Given the description of an element on the screen output the (x, y) to click on. 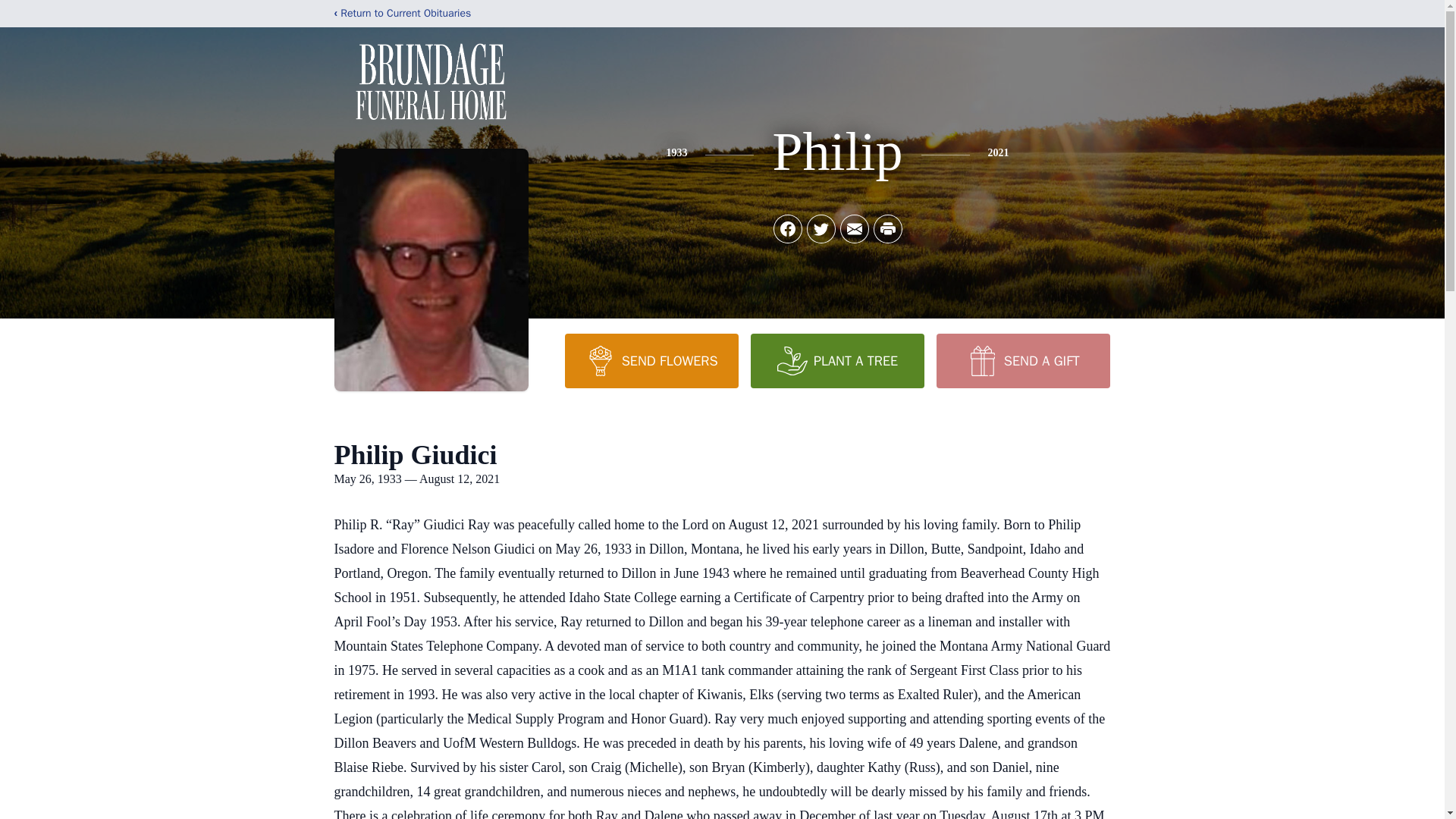
PLANT A TREE (837, 360)
SEND A GIFT (1022, 360)
SEND FLOWERS (651, 360)
